Given the description of an element on the screen output the (x, y) to click on. 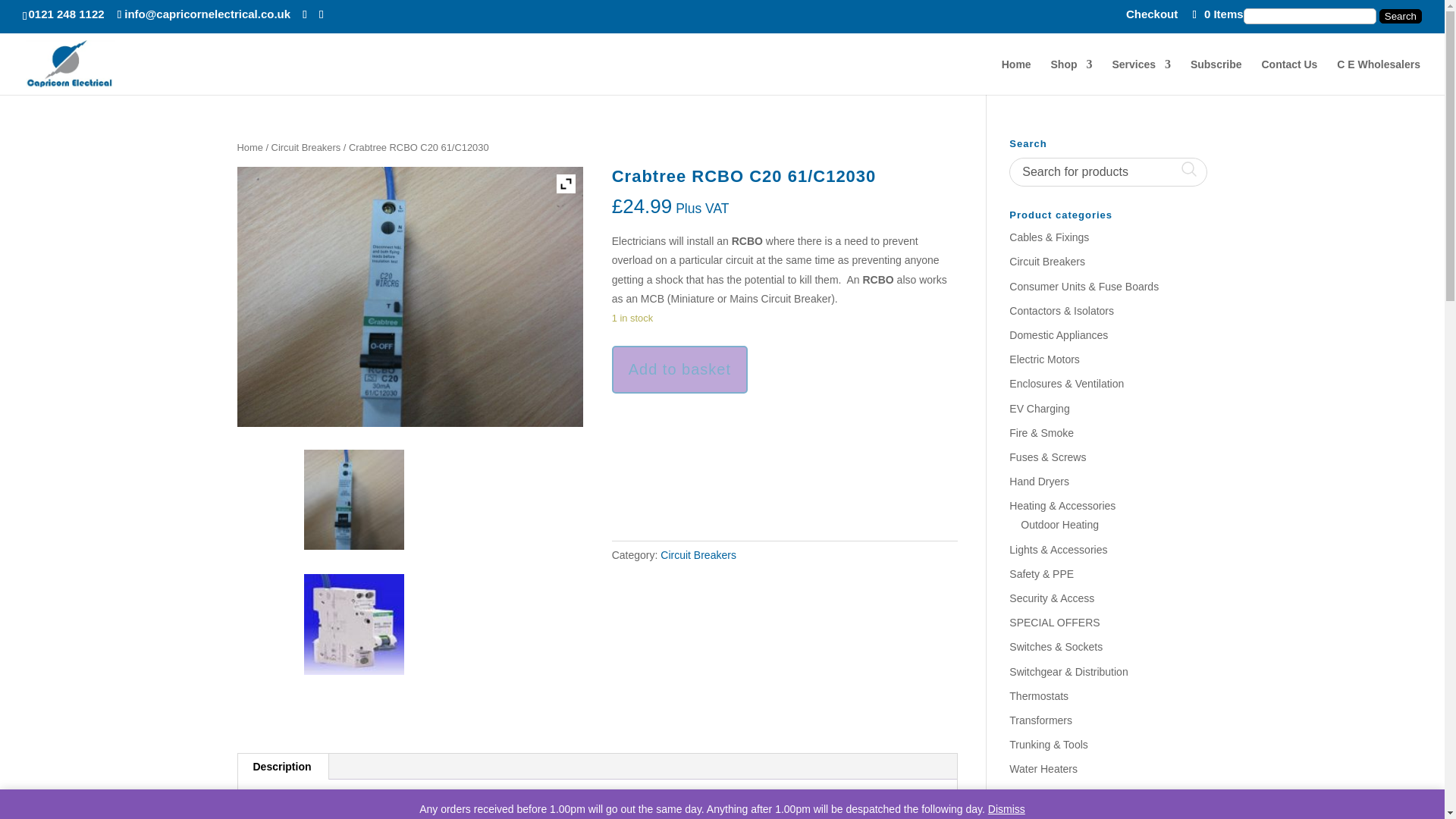
0 Items (1216, 13)
Services (1141, 76)
Search (1400, 16)
C E Wholesalers (1378, 76)
crabtree RCBO C20 side (354, 624)
crabtree rcbo c20 (408, 296)
Subscribe (1216, 76)
Checkout (1151, 17)
PayPal Message 1 (784, 426)
crabtree rcbo c20 (354, 499)
Contact Us (1289, 76)
Shop (1072, 76)
PayPal (784, 470)
Search (1400, 16)
